Given the description of an element on the screen output the (x, y) to click on. 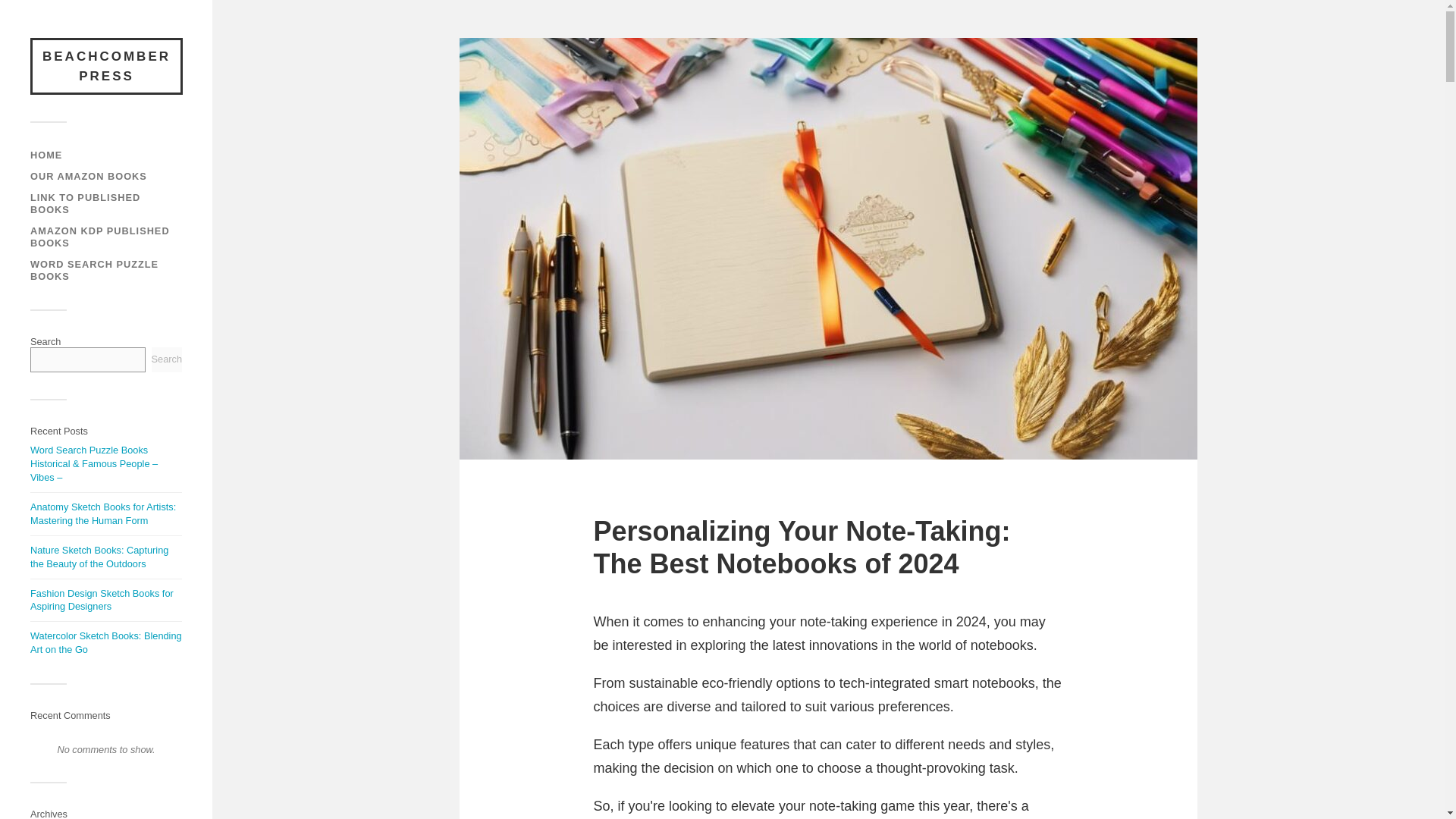
WORD SEARCH PUZZLE BOOKS (94, 269)
BEACHCOMBER PRESS (106, 66)
AMAZON KDP PUBLISHED BOOKS (100, 236)
Fashion Design Sketch Books for Aspiring Designers (101, 600)
Search (166, 359)
Anatomy Sketch Books for Artists: Mastering the Human Form (103, 513)
Nature Sketch Books: Capturing the Beauty of the Outdoors (99, 556)
LINK TO PUBLISHED BOOKS (84, 203)
HOME (46, 154)
OUR AMAZON BOOKS (88, 175)
